Given the description of an element on the screen output the (x, y) to click on. 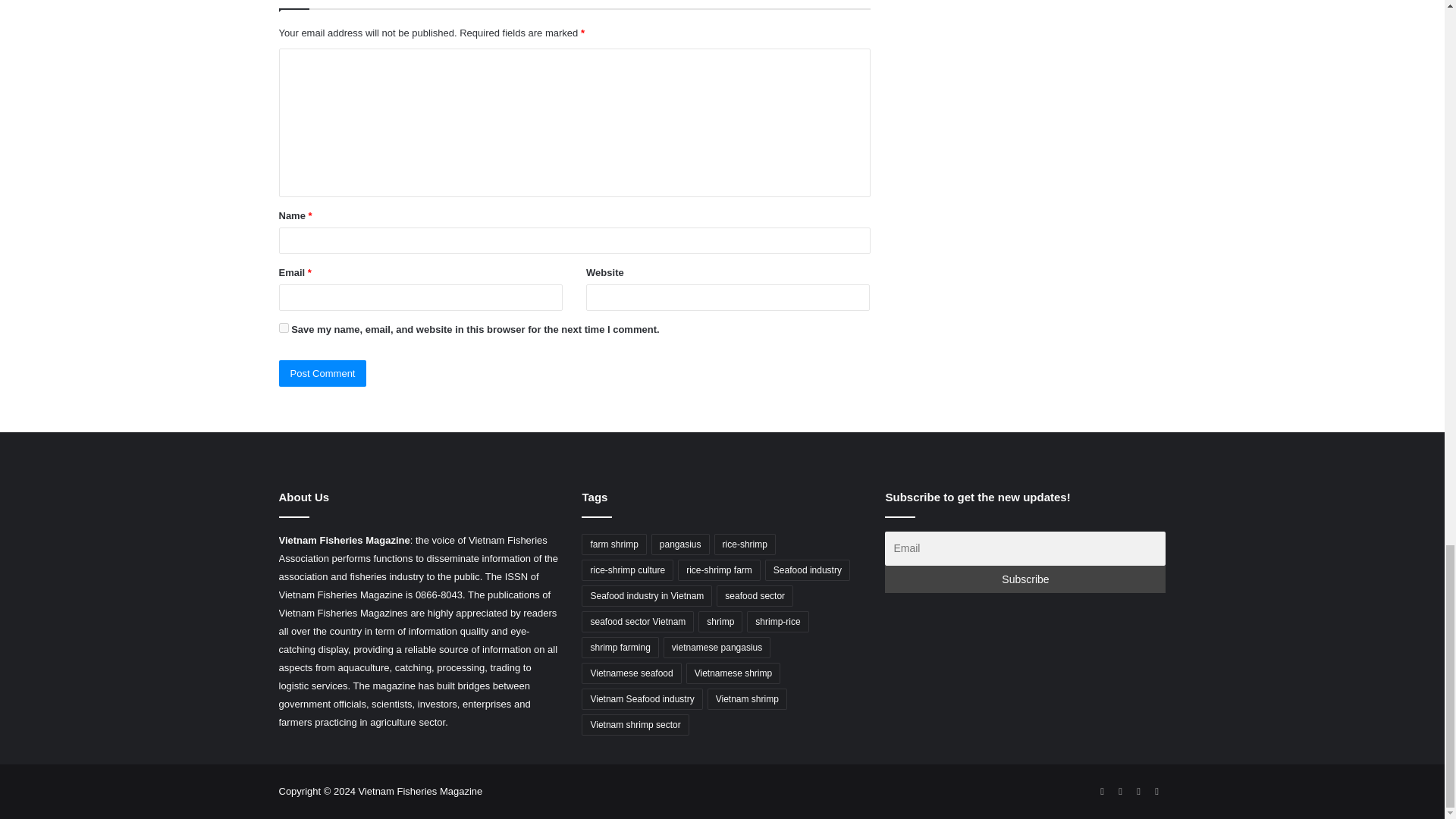
Subscribe (1025, 578)
Post Comment (322, 373)
yes (283, 327)
